Given the description of an element on the screen output the (x, y) to click on. 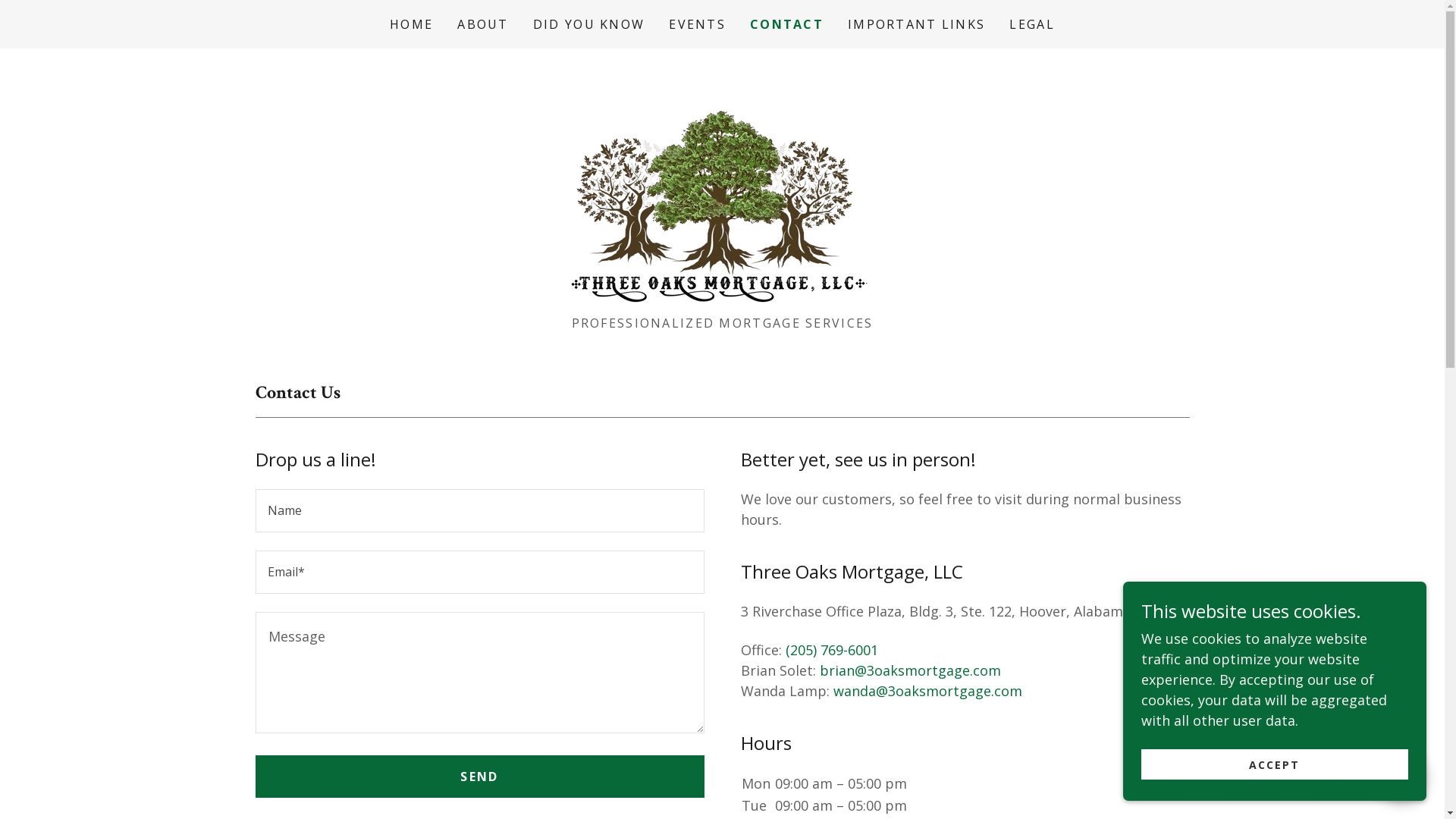
SEND Element type: text (478, 776)
CONTACT Element type: text (786, 24)
LEGAL Element type: text (1031, 23)
EVENTS Element type: text (697, 23)
IMPORTANT LINKS Element type: text (916, 23)
brian@3oaksmortgage.com Element type: text (909, 670)
ABOUT Element type: text (482, 23)
DID YOU KNOW Element type: text (588, 23)
Three Oaks Mortgage, LLC Element type: hover (722, 186)
ACCEPT Element type: text (1274, 764)
HOME Element type: text (411, 23)
(205) 769-6001 Element type: text (831, 649)
wanda@3oaksmortgage.com Element type: text (926, 690)
